Given the description of an element on the screen output the (x, y) to click on. 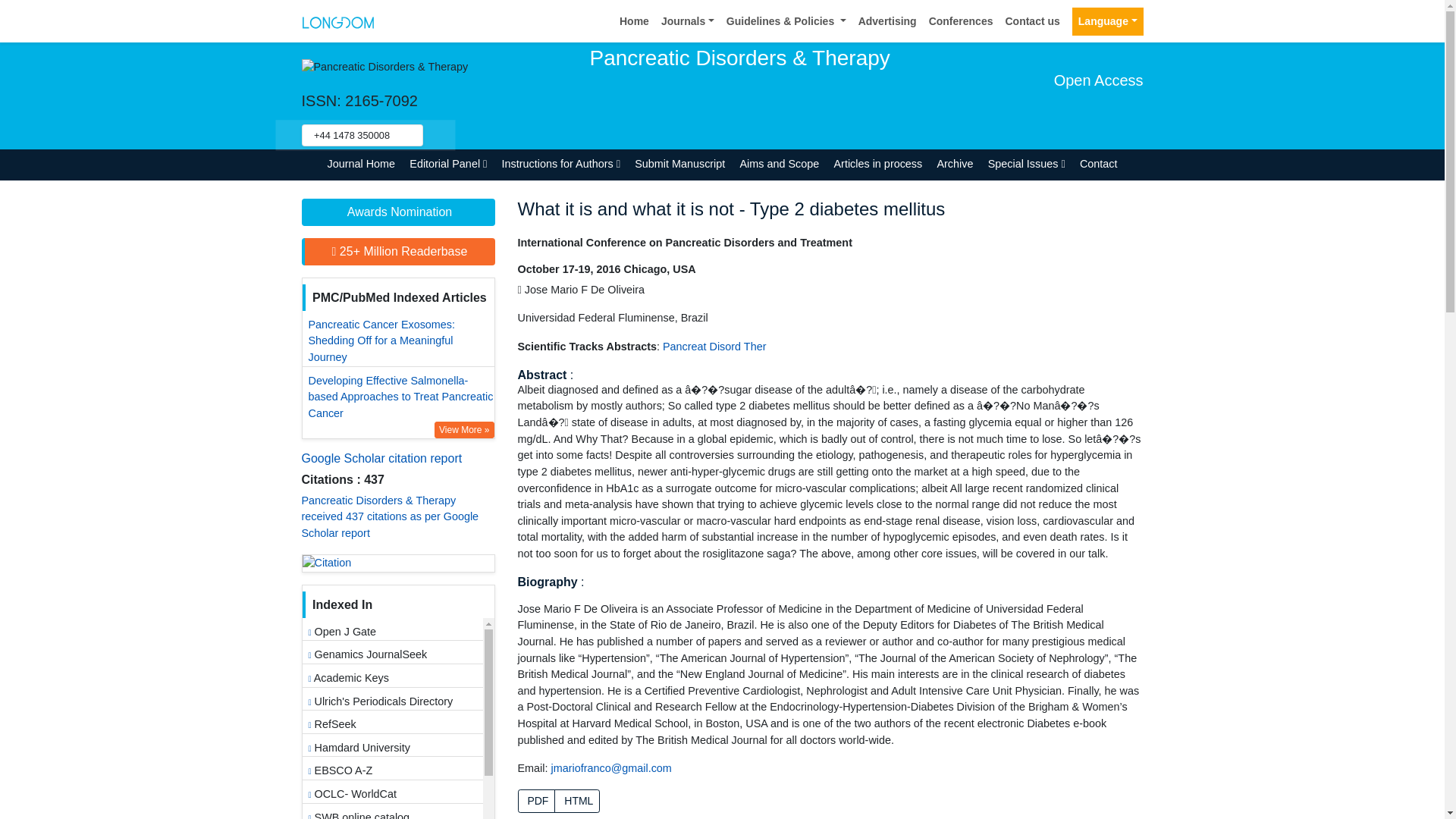
Submit Manuscript (679, 164)
Advertising (887, 21)
Home (633, 21)
Home (633, 21)
Aims and Scope (779, 164)
Contact us (1031, 21)
Journal Home (361, 164)
Longdom Publishing S.L (337, 20)
Archive (954, 164)
Journals (687, 21)
